Given the description of an element on the screen output the (x, y) to click on. 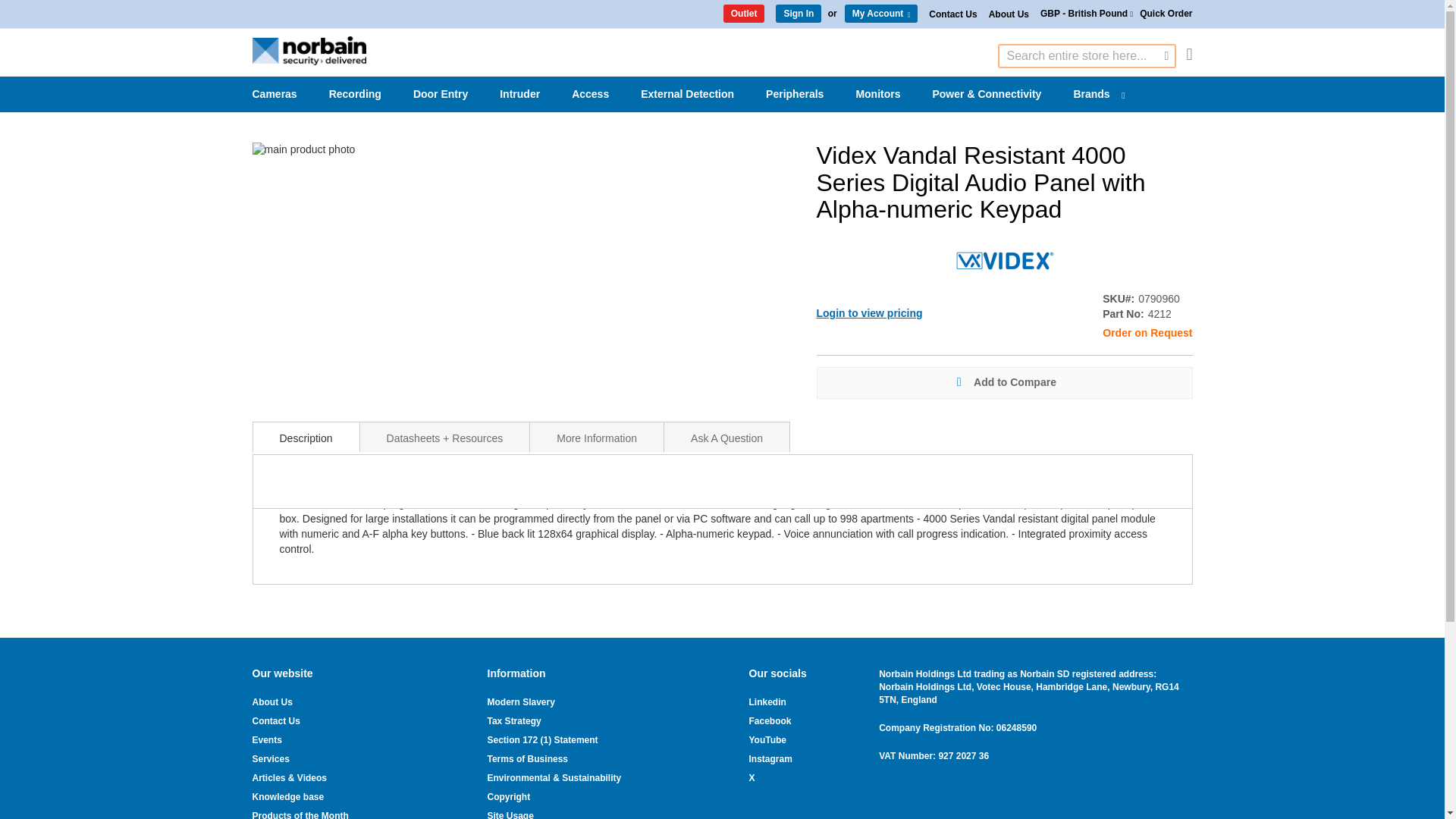
Norbain SD (308, 50)
Contact Us (952, 14)
Quick Order (1166, 13)
Outlet (744, 13)
My Cart (1189, 54)
Recording (358, 94)
Change (908, 13)
Search (1166, 55)
Search (1166, 55)
About Us (1008, 14)
Cameras (277, 94)
Sign In (798, 13)
